Given the description of an element on the screen output the (x, y) to click on. 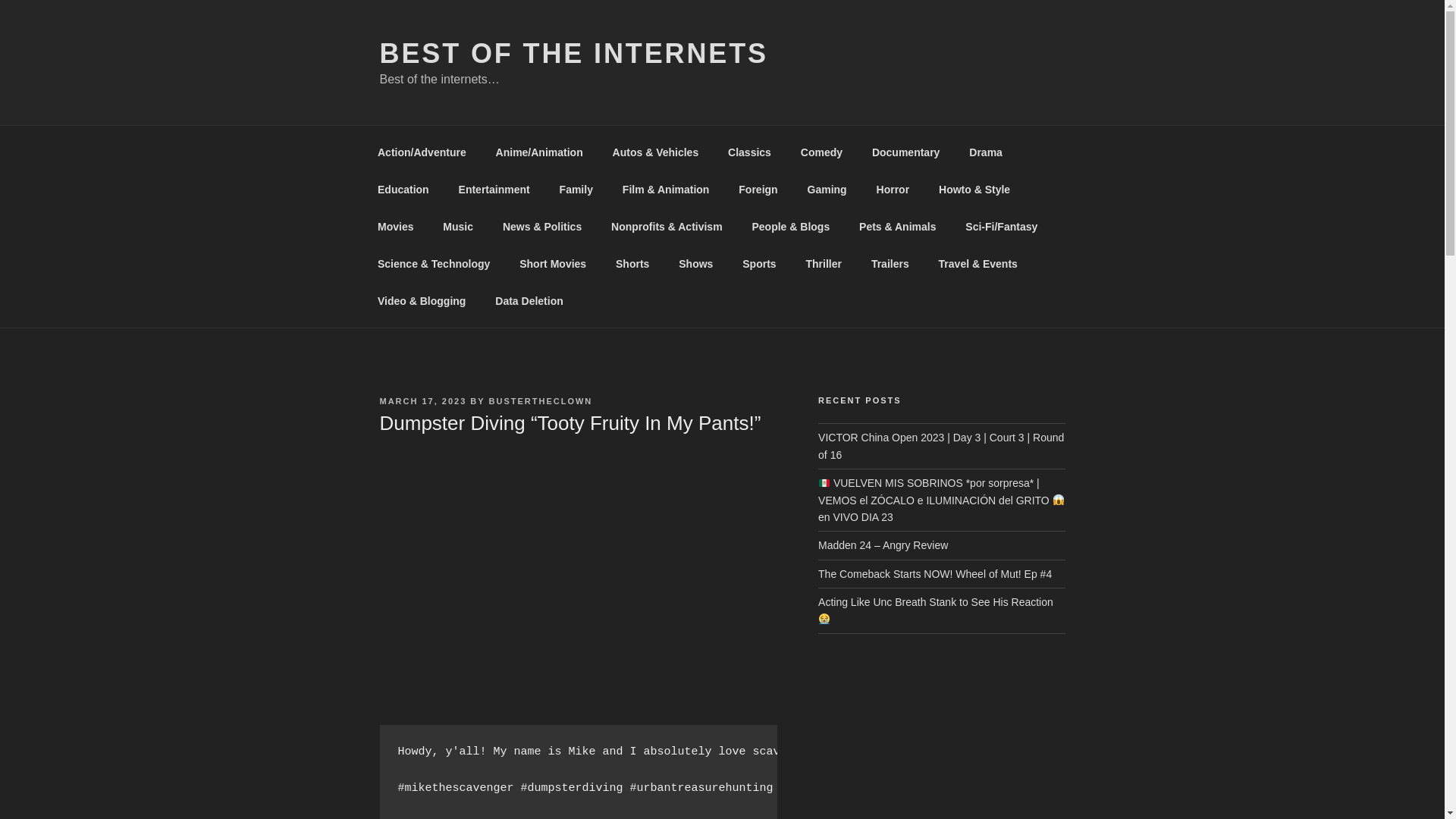
Documentary (905, 151)
Shorts (632, 263)
Horror (893, 189)
Classics (749, 151)
BUSTERTHECLOWN (540, 400)
MARCH 17, 2023 (421, 400)
Short Movies (552, 263)
Comedy (821, 151)
Movies (395, 226)
Family (575, 189)
Trailers (889, 263)
BEST OF THE INTERNETS (573, 52)
Shows (695, 263)
Education (403, 189)
Dumpster Diving  (577, 577)
